Given the description of an element on the screen output the (x, y) to click on. 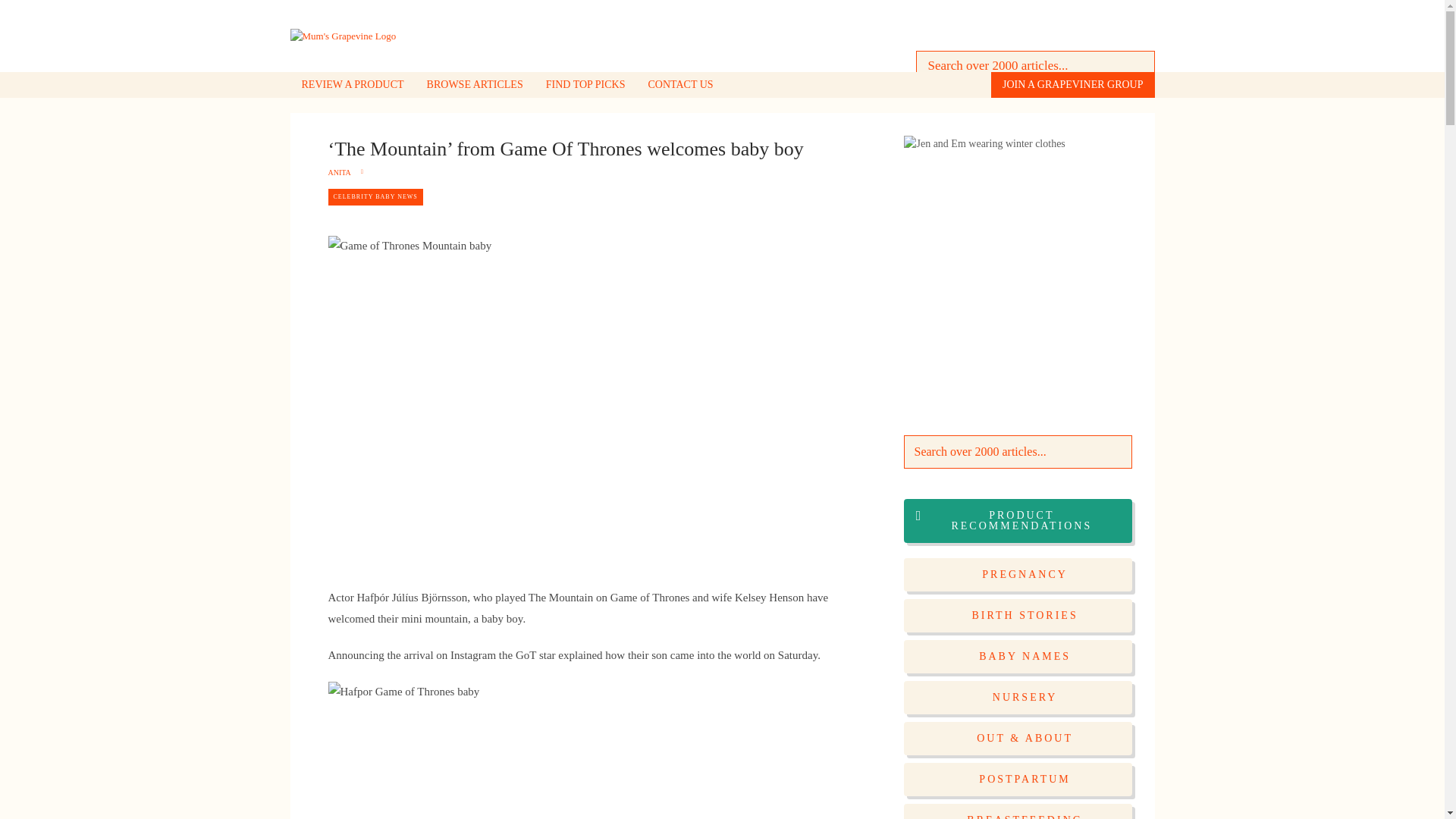
POSTPARTUM (1017, 779)
PRODUCT RECOMMENDATIONS (1017, 520)
ANITA (338, 172)
BABY NAMES (1017, 656)
NURSERY (1017, 697)
BROWSE ARTICLES (474, 84)
JOIN A GRAPEVINER GROUP (1072, 84)
BREASTFEEDING (1017, 811)
BIRTH STORIES (1017, 615)
CELEBRITY BABY NEWS (374, 197)
